Given the description of an element on the screen output the (x, y) to click on. 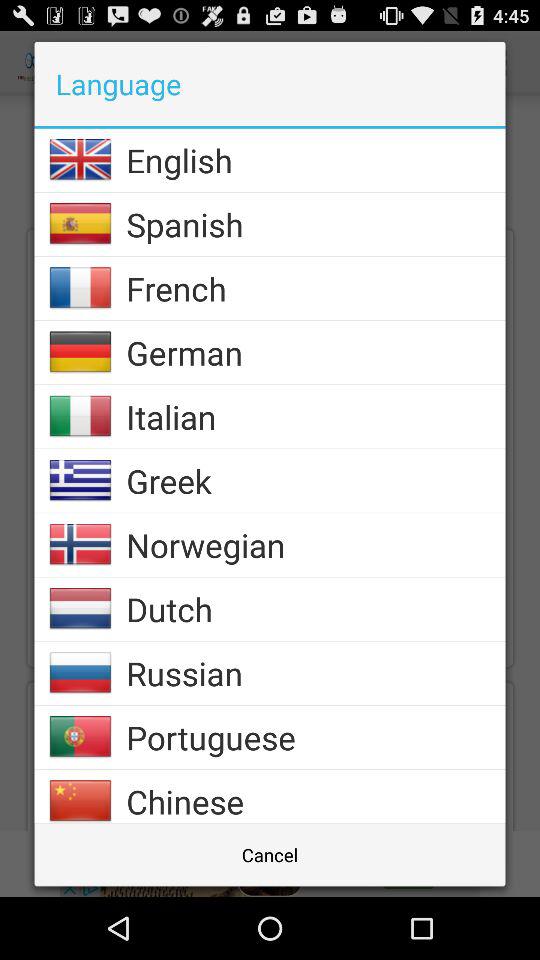
choose item below the greek (315, 544)
